Given the description of an element on the screen output the (x, y) to click on. 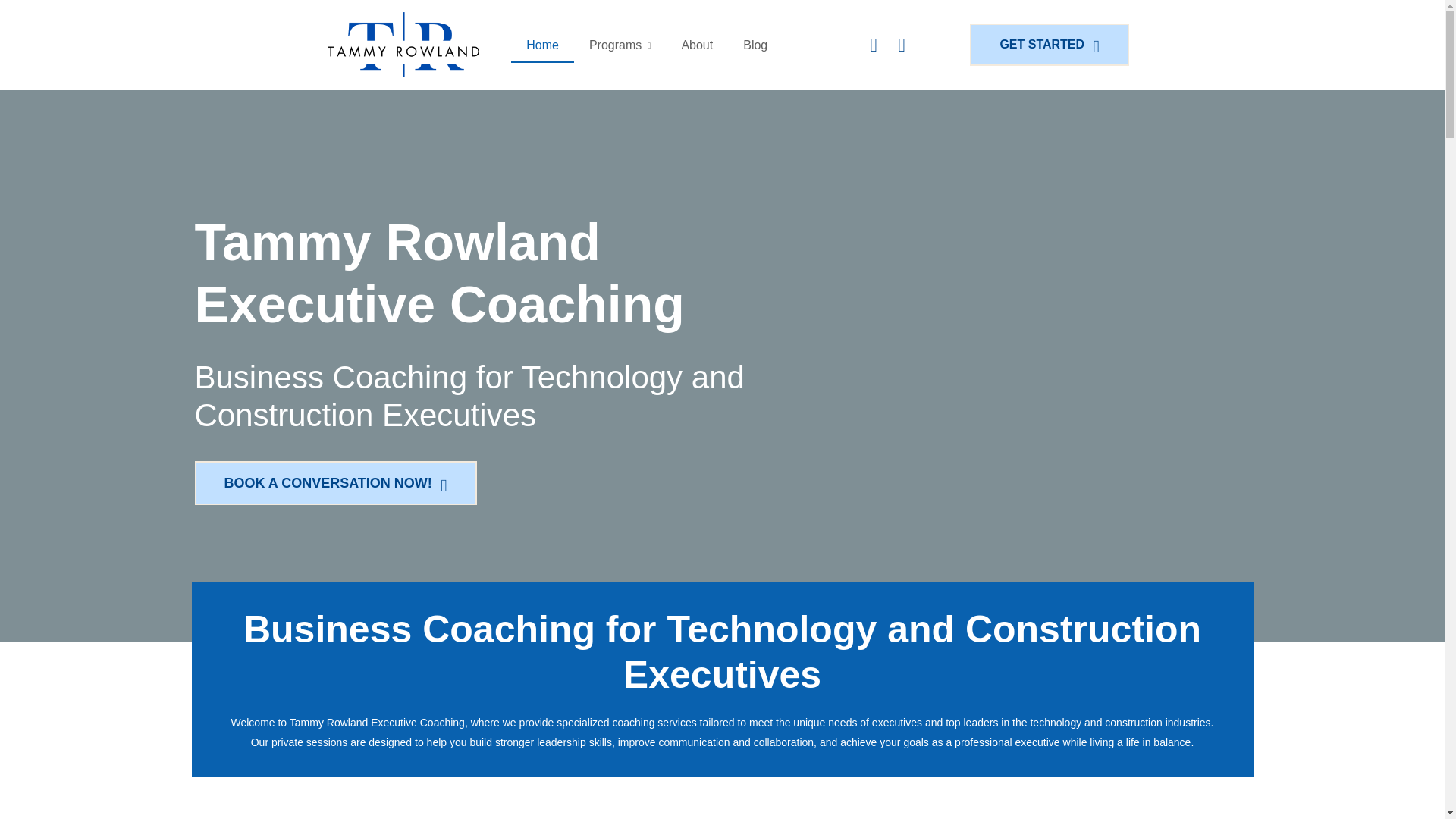
BOOK A CONVERSATION NOW! (337, 483)
GET STARTED (1053, 44)
Programs (619, 45)
Blog (755, 45)
About (696, 45)
Home (542, 45)
